Given the description of an element on the screen output the (x, y) to click on. 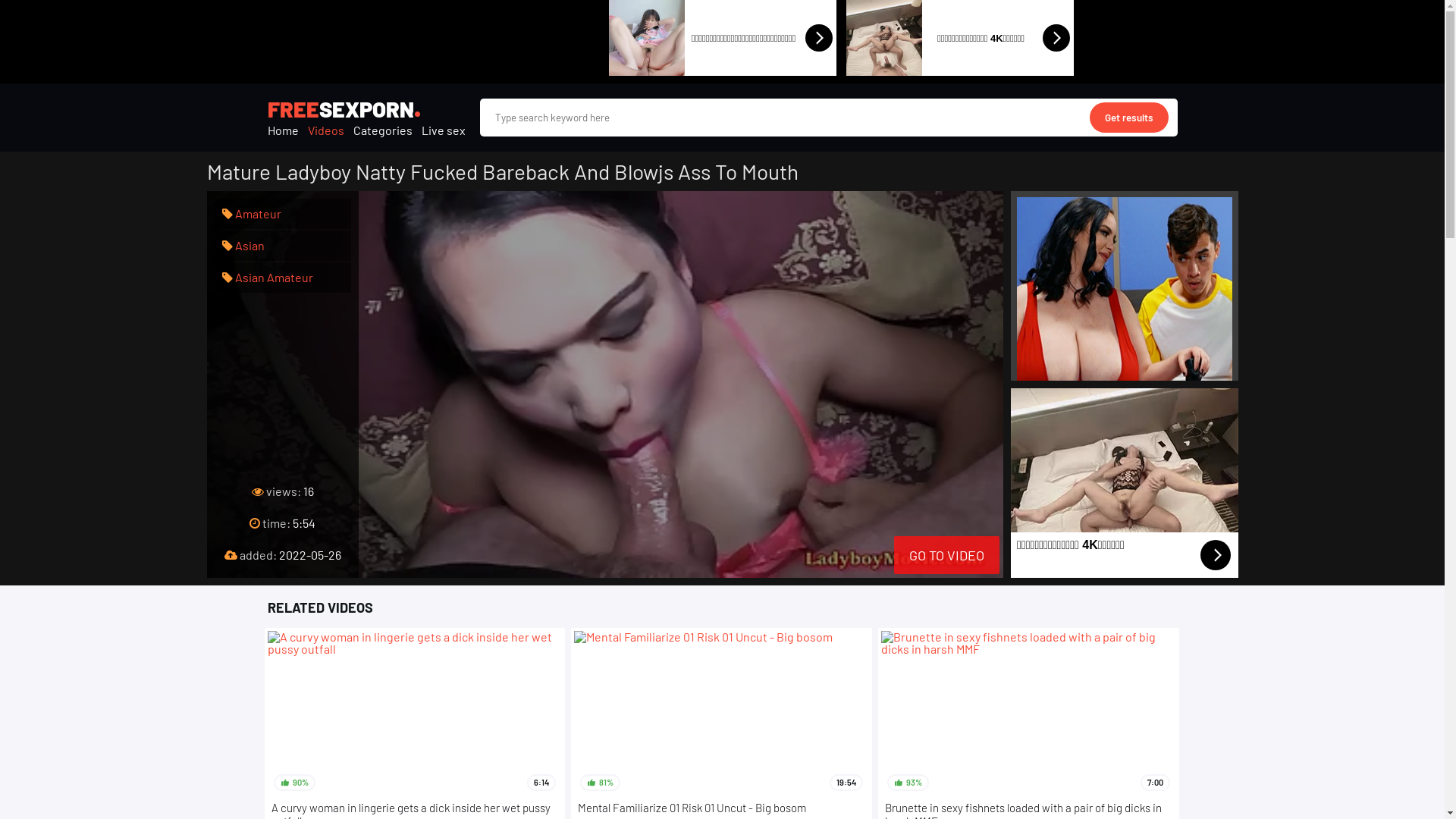
FREESEXPORN Element type: text (339, 108)
Home Element type: text (282, 129)
Asian Amateur Element type: text (266, 276)
19:54
81% Element type: text (721, 713)
Asian Element type: text (242, 245)
7:00
93% Element type: text (1028, 713)
Amateur Element type: text (250, 213)
Search X Videos Element type: hover (827, 117)
Live sex Element type: text (443, 129)
6:14
90% Element type: text (413, 713)
Get results Element type: text (1127, 117)
Videos Element type: text (325, 129)
Categories Element type: text (382, 129)
